Given the description of an element on the screen output the (x, y) to click on. 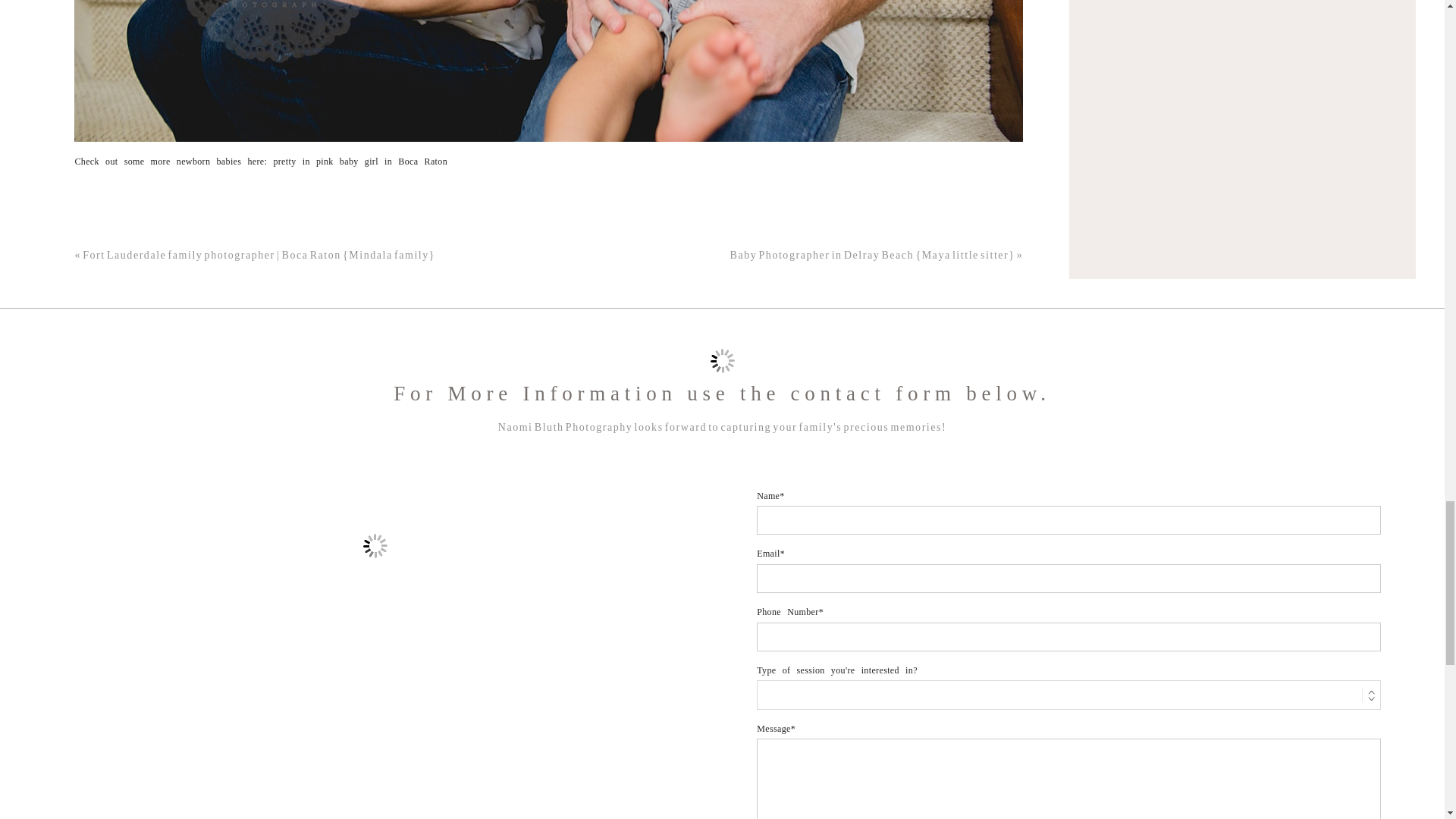
pretty in pink baby girl in Boca Raton (359, 161)
